Given the description of an element on the screen output the (x, y) to click on. 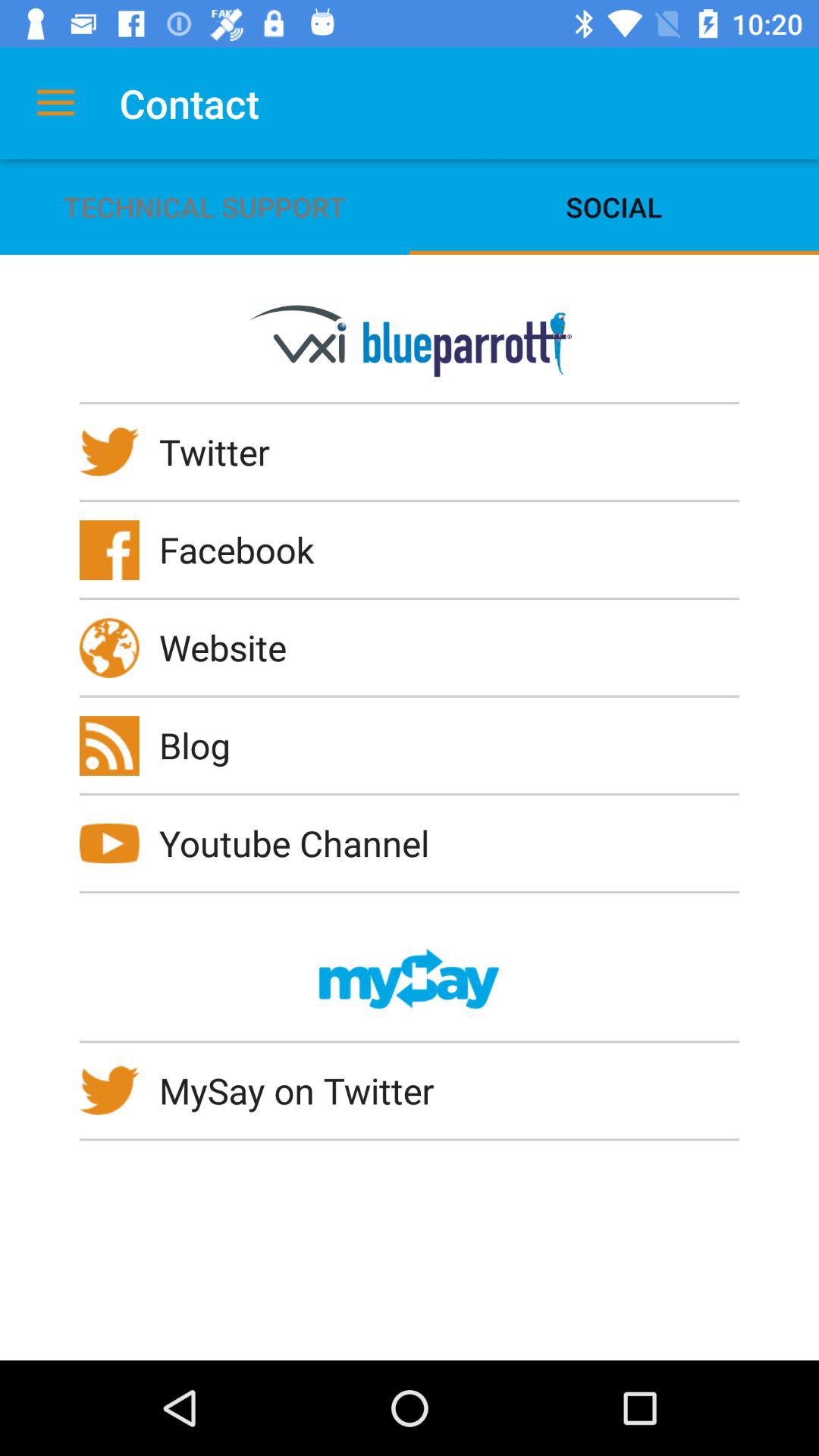
turn on the website icon (232, 647)
